Given the description of an element on the screen output the (x, y) to click on. 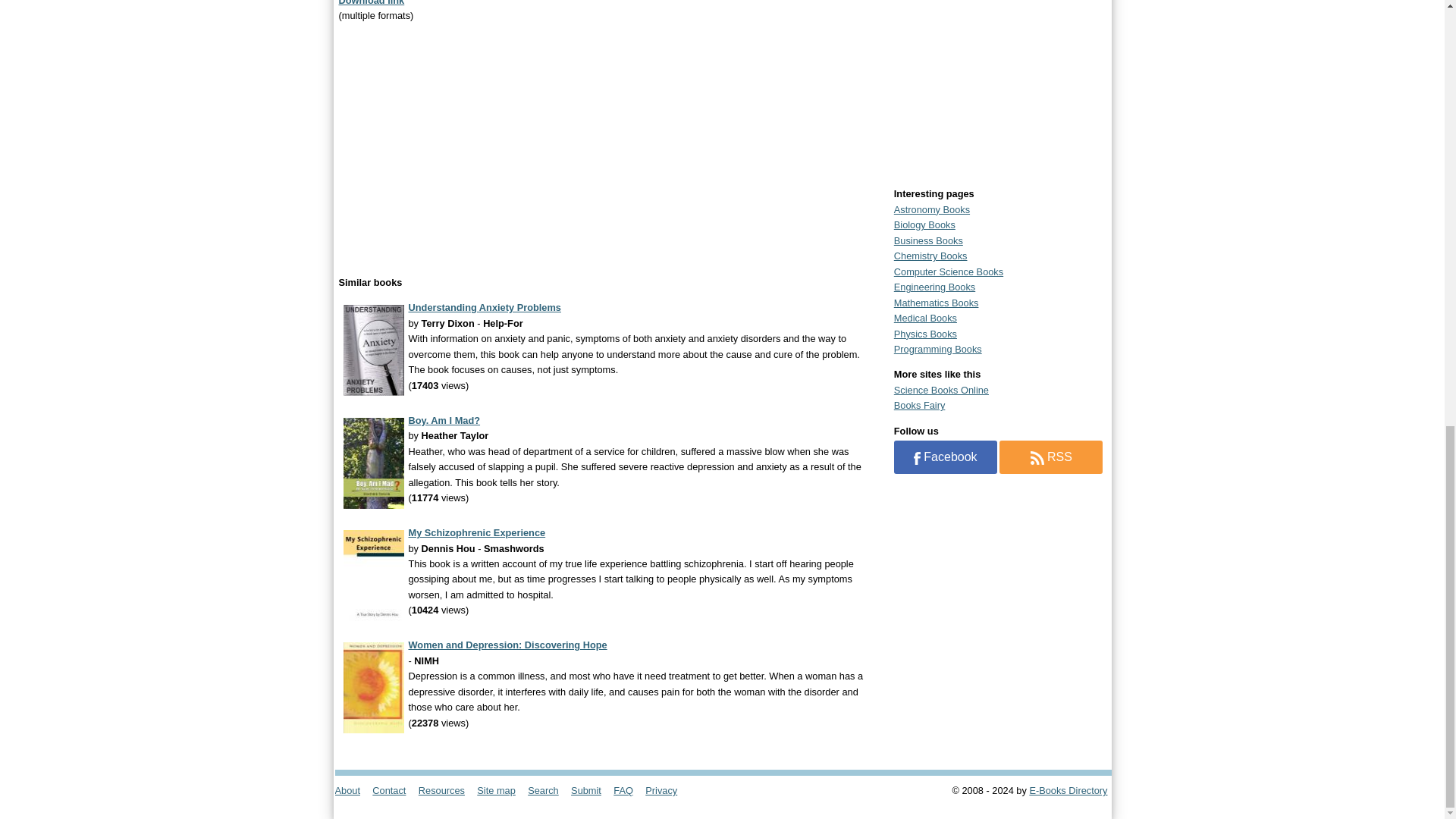
About (351, 790)
My Schizophrenic Experience (475, 532)
Contact (393, 790)
Search (547, 790)
Understanding Anxiety Problems (483, 307)
Women and Depression: Discovering Hope (507, 644)
FAQ (627, 790)
Boy. Am I Mad? (443, 419)
Privacy (666, 790)
Resources (446, 790)
